Given the description of an element on the screen output the (x, y) to click on. 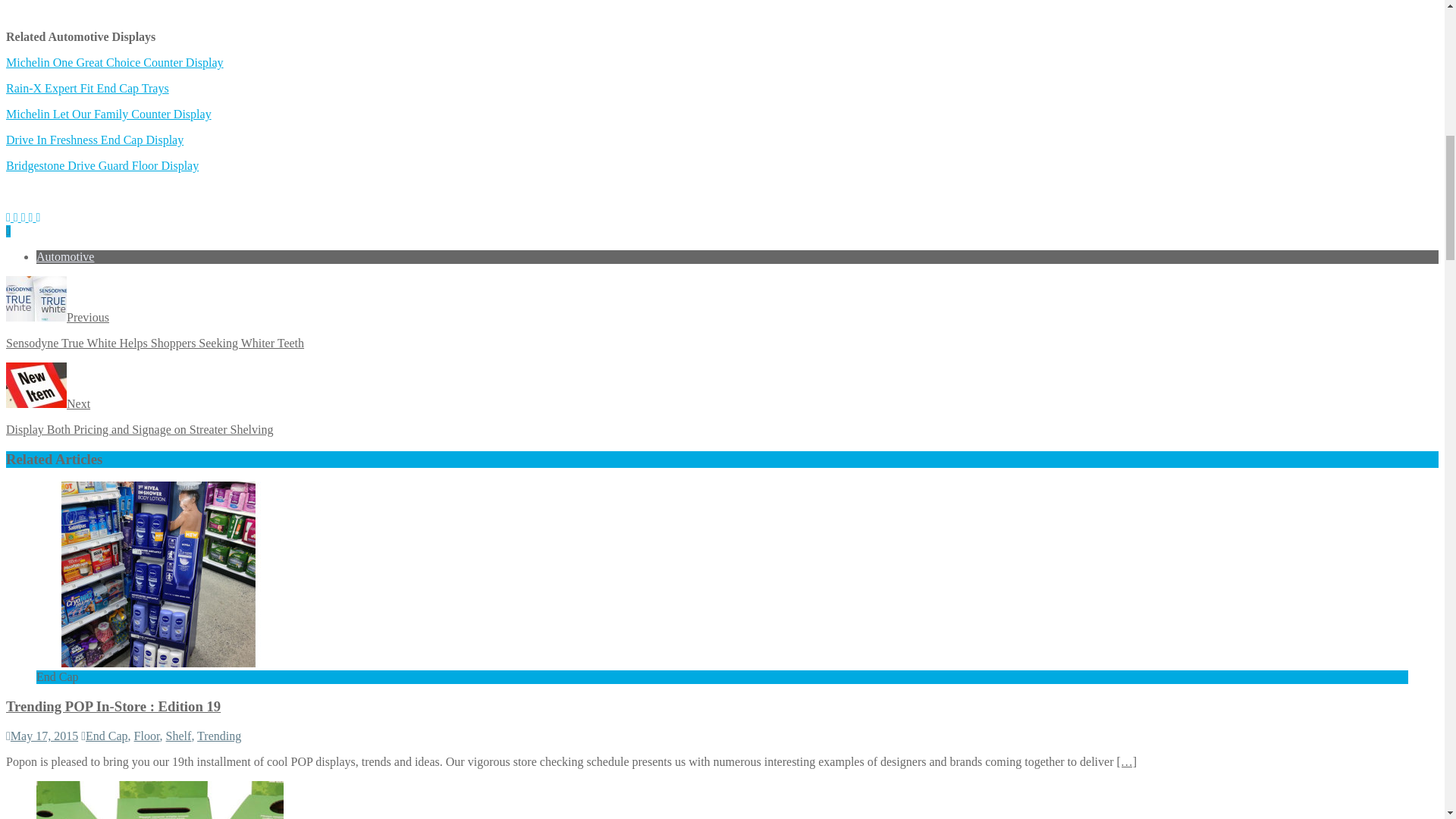
Trending POP In-Store : Edition 19 (159, 662)
Michelin Let Our Family Counter Display (108, 113)
Trending POP In-Store : Edition 19 (113, 706)
Drive In Freshness End Cap Display (94, 139)
Trending POP In-Store : Edition 19 (1126, 761)
Michelin One Great Choice Counter Display (114, 62)
Rain-X Expert Fit End Cap Trays (86, 88)
